Given the description of an element on the screen output the (x, y) to click on. 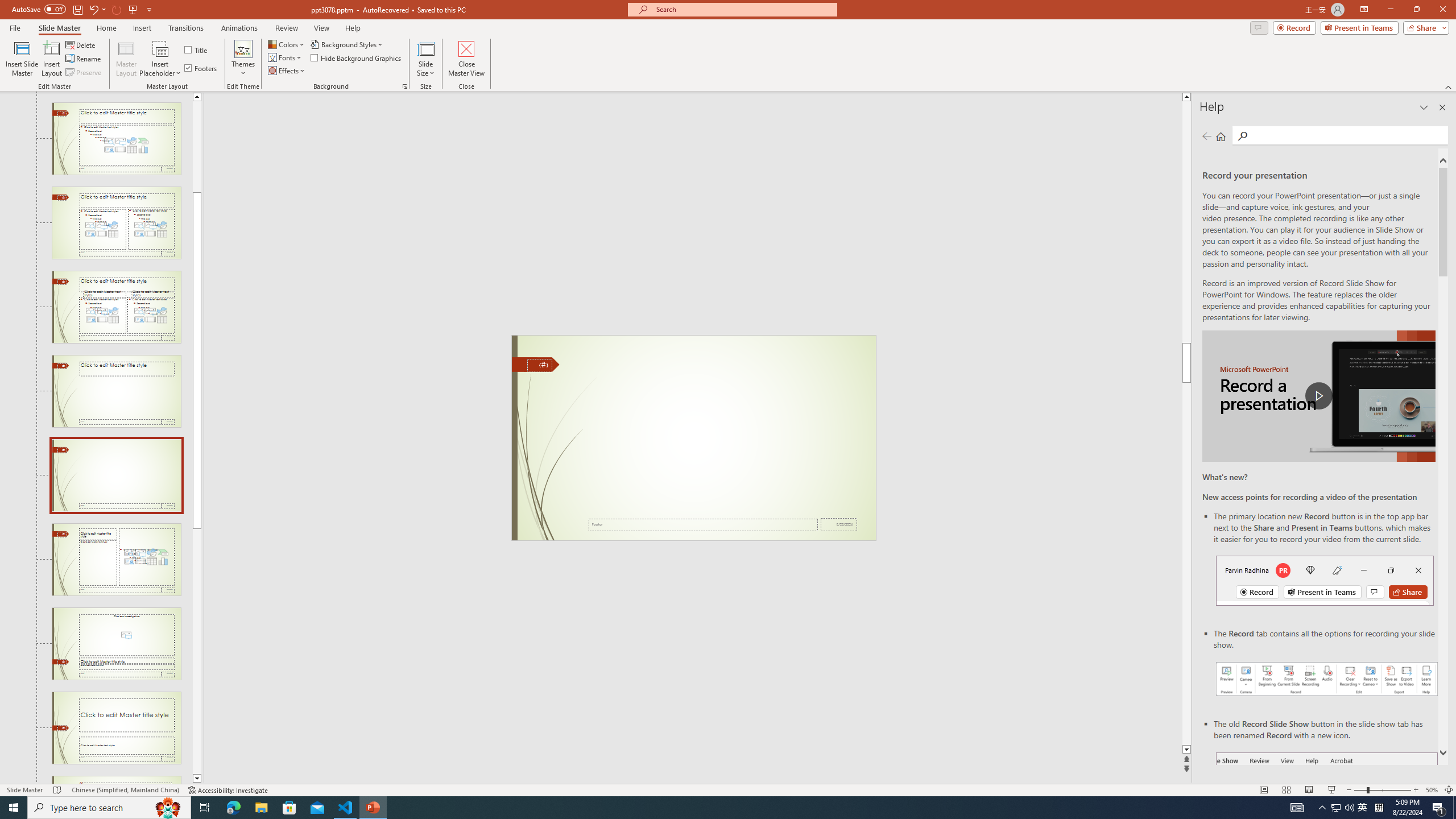
Preserve (84, 72)
Slide Comparison Layout: used by no slides (116, 307)
Record button in top bar (1324, 580)
Footers (201, 67)
Content (160, 48)
Freeform 11 (535, 364)
Slide Picture with Caption Layout: used by no slides (116, 643)
Title (196, 49)
